Given the description of an element on the screen output the (x, y) to click on. 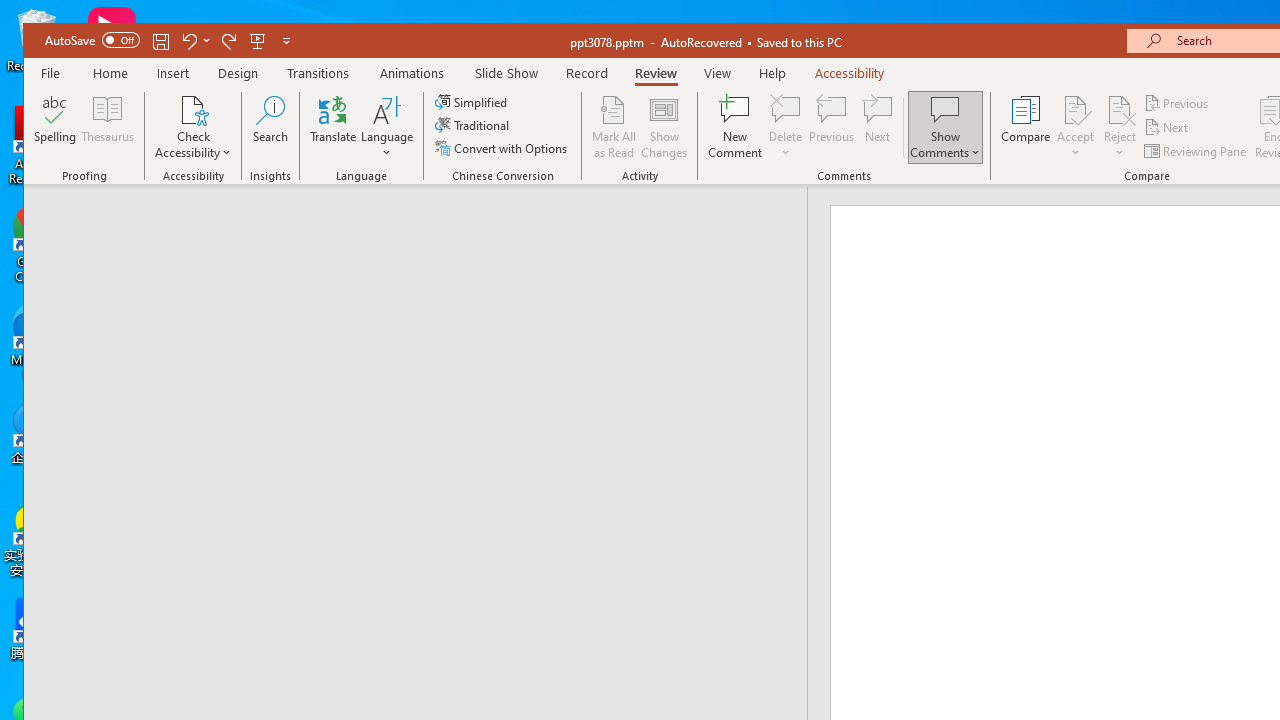
More Options (1119, 146)
Show Changes (663, 127)
Animations (411, 73)
Check Accessibility (193, 109)
Home (110, 73)
